Given the description of an element on the screen output the (x, y) to click on. 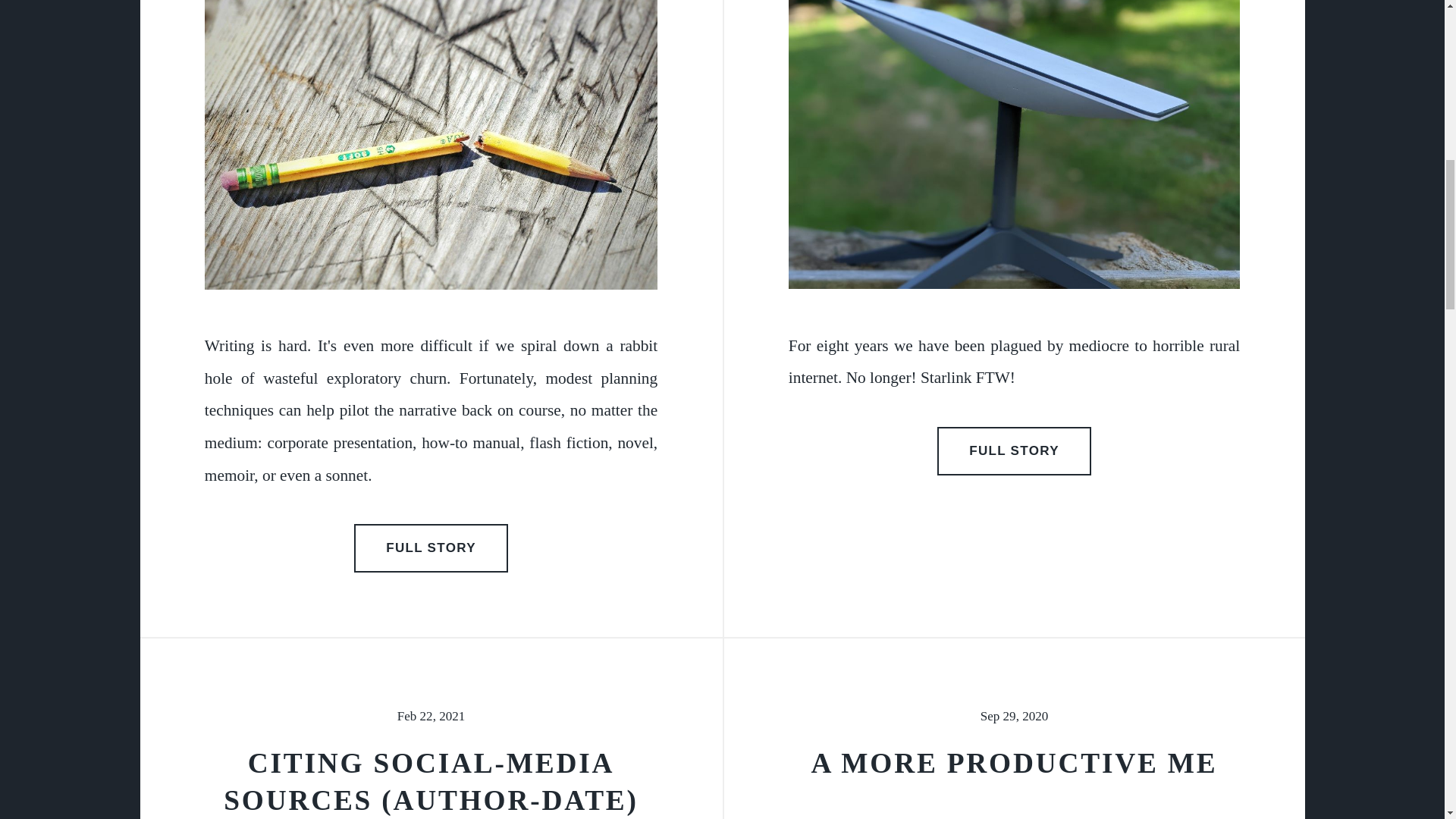
FULL STORY (1014, 450)
FULL STORY (430, 548)
A MORE PRODUCTIVE ME (1013, 762)
